Given the description of an element on the screen output the (x, y) to click on. 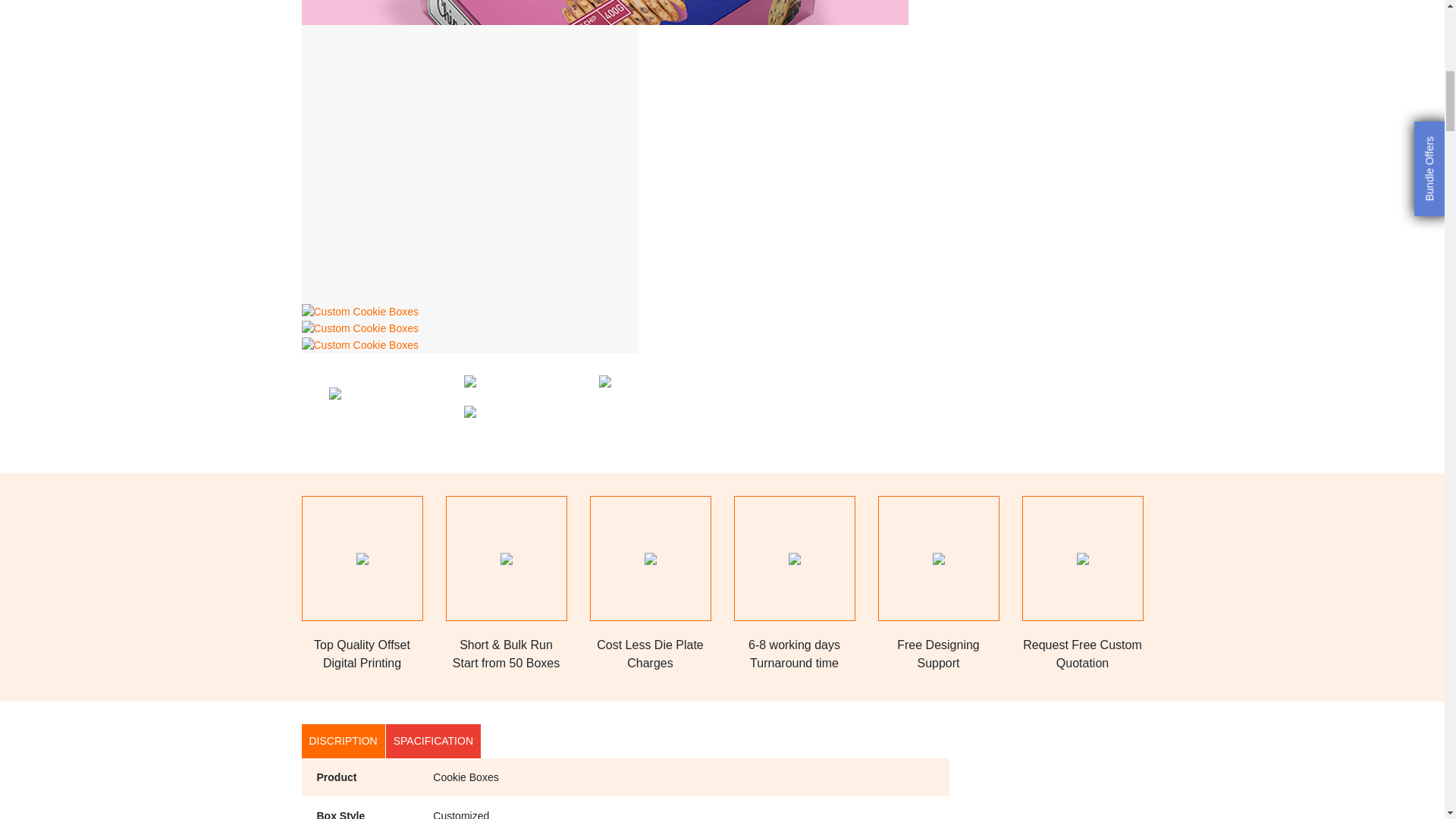
Custom Cookie Boxes (360, 328)
Custom Cookie Boxes (360, 311)
Custom Cookie Boxes (360, 344)
